Given the description of an element on the screen output the (x, y) to click on. 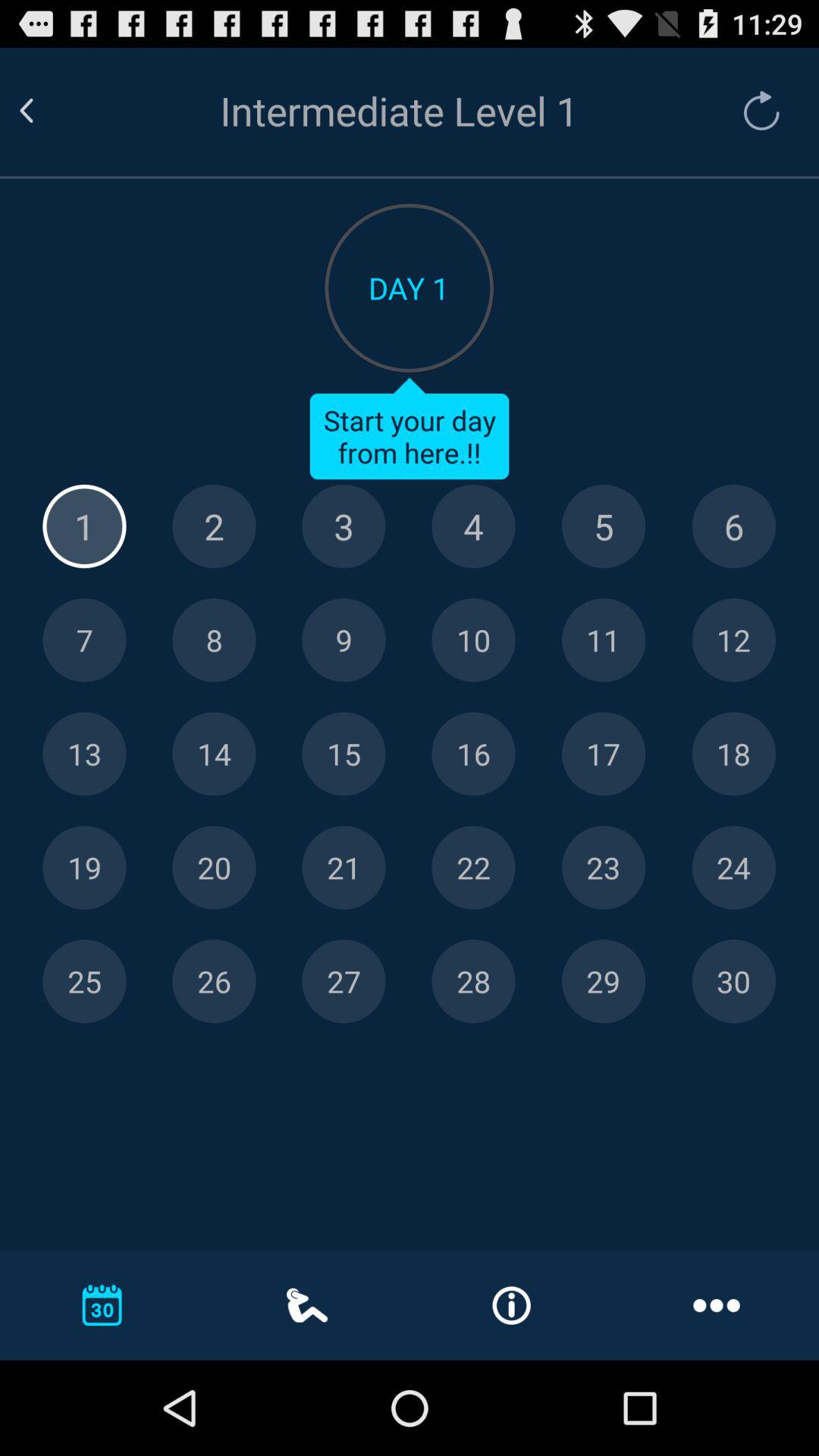
open 14th level (213, 753)
